Given the description of an element on the screen output the (x, y) to click on. 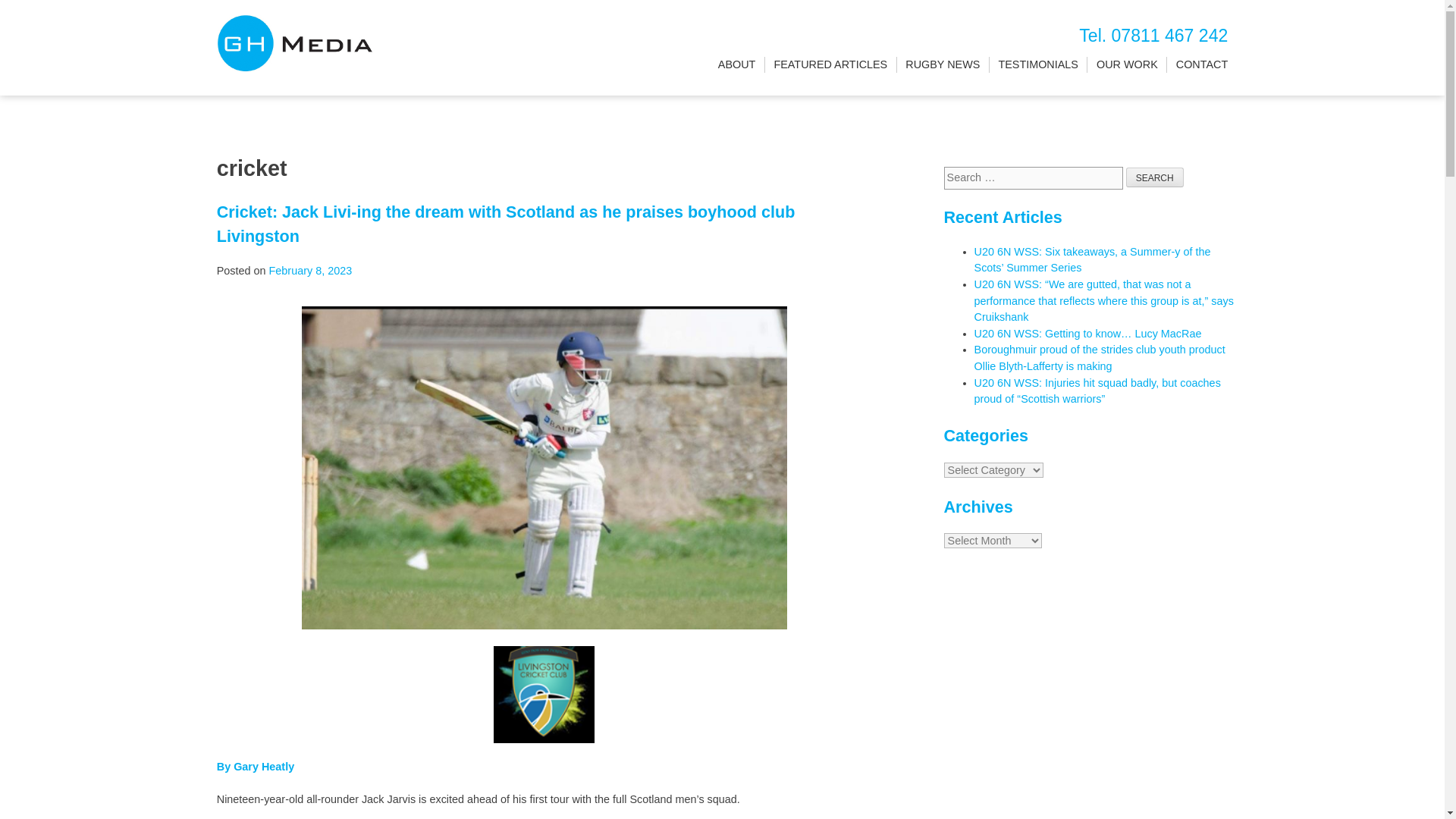
ABOUT (736, 64)
TESTIMONIALS (1037, 64)
CONTACT (1201, 64)
Search (1154, 177)
Search (1154, 177)
RUGBY NEWS (942, 64)
FEATURED ARTICLES (829, 64)
February 8, 2023 (310, 270)
OUR WORK (1126, 64)
By  (224, 766)
Gary Heatly (263, 766)
Search (1154, 177)
